Given the description of an element on the screen output the (x, y) to click on. 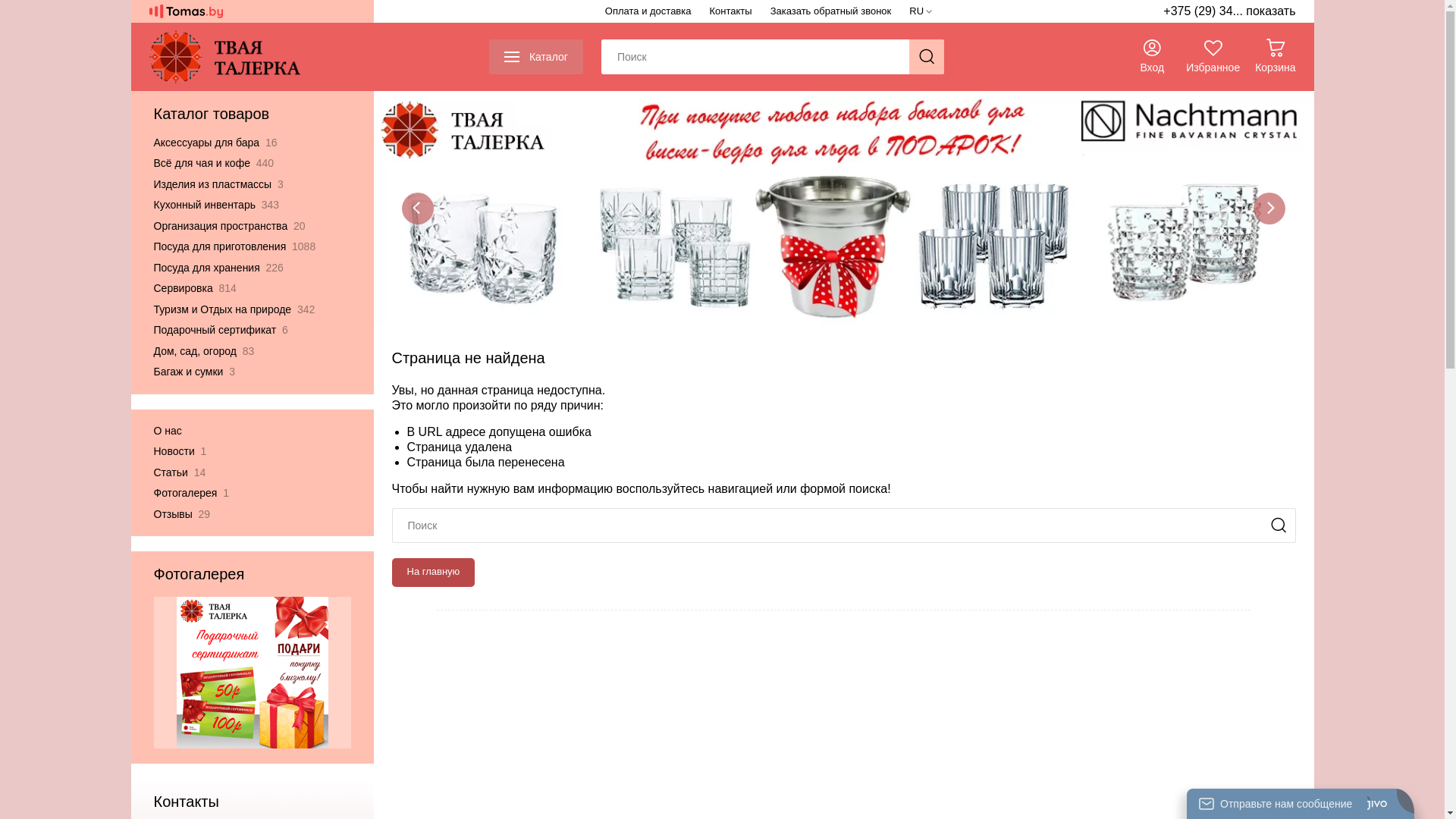
RU Element type: text (920, 11)
